Given the description of an element on the screen output the (x, y) to click on. 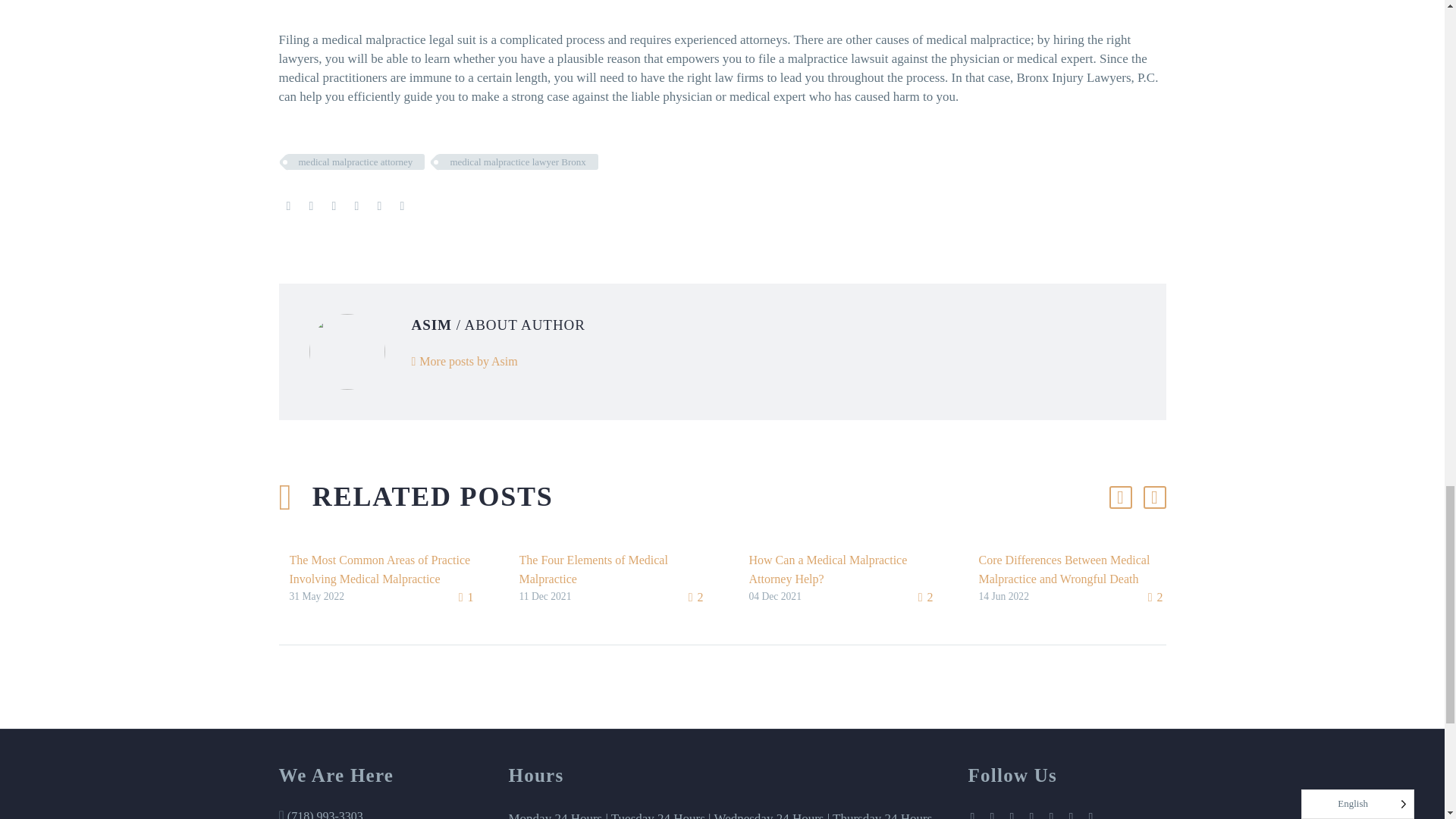
Pinterest (333, 205)
Facebook (288, 205)
Twitter (310, 205)
Tumblr (356, 205)
